Given the description of an element on the screen output the (x, y) to click on. 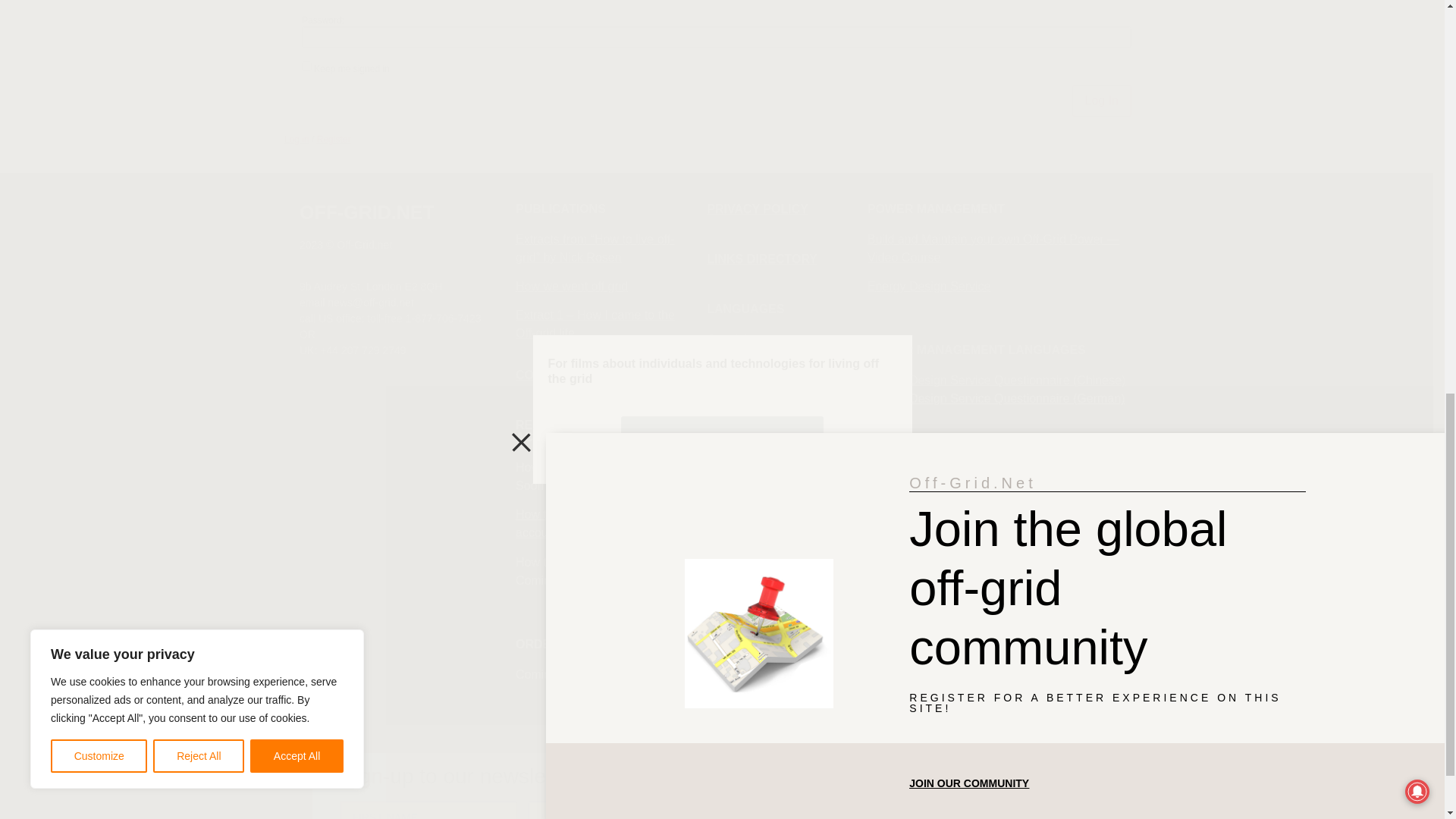
forever (306, 66)
